Given the description of an element on the screen output the (x, y) to click on. 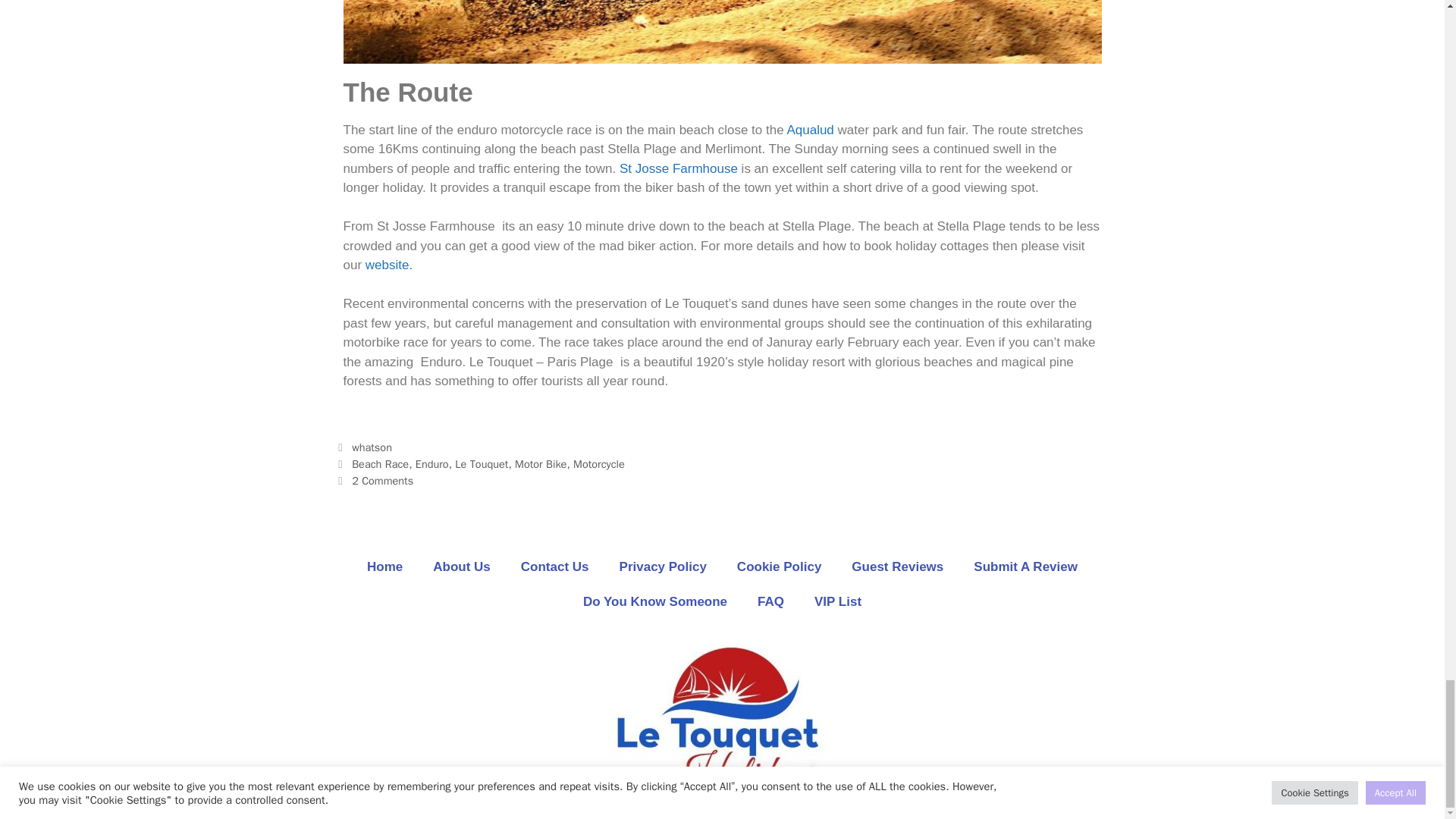
Aqua (801, 129)
